Given the description of an element on the screen output the (x, y) to click on. 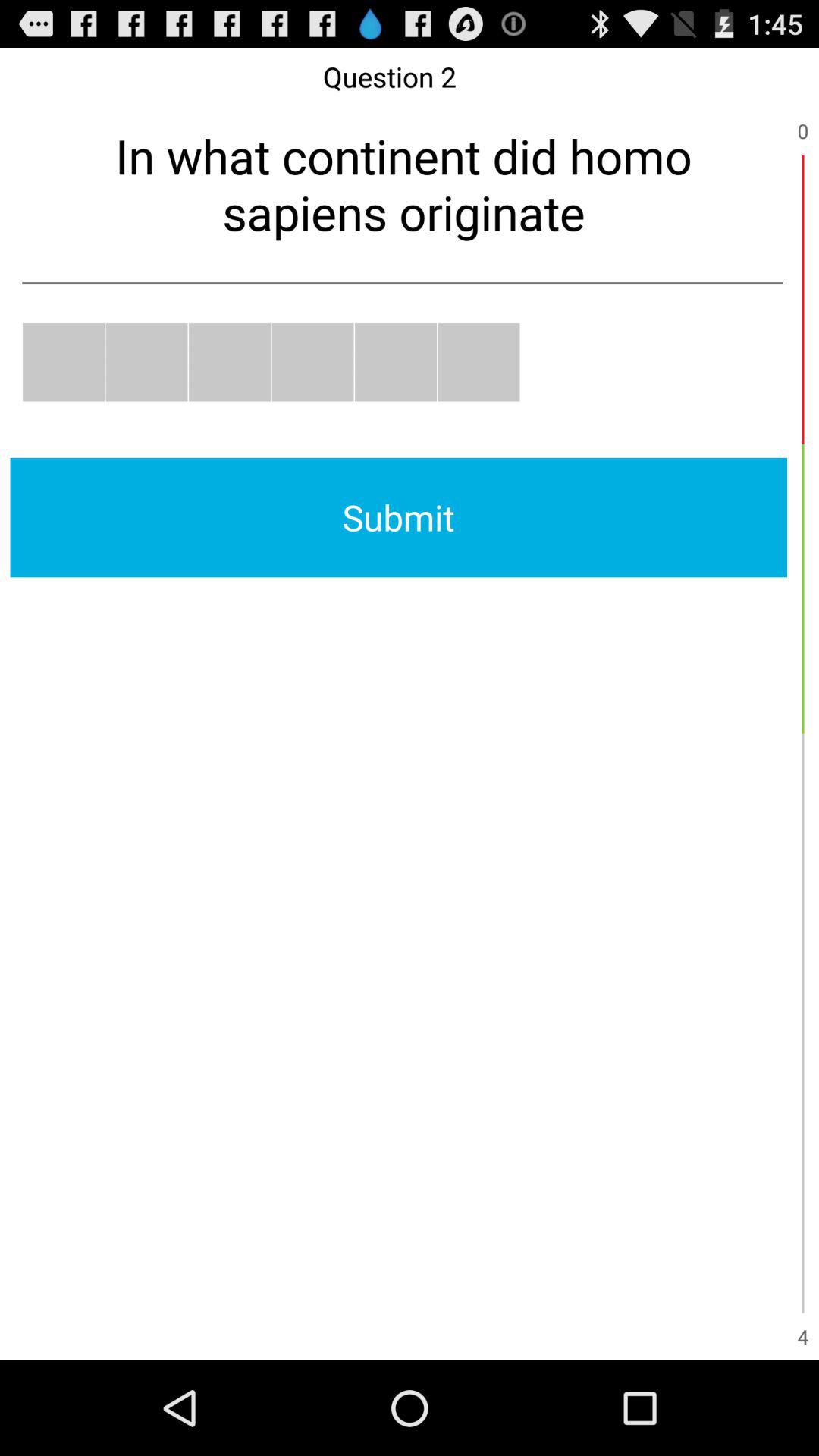
tap the item above submit item (229, 362)
